Given the description of an element on the screen output the (x, y) to click on. 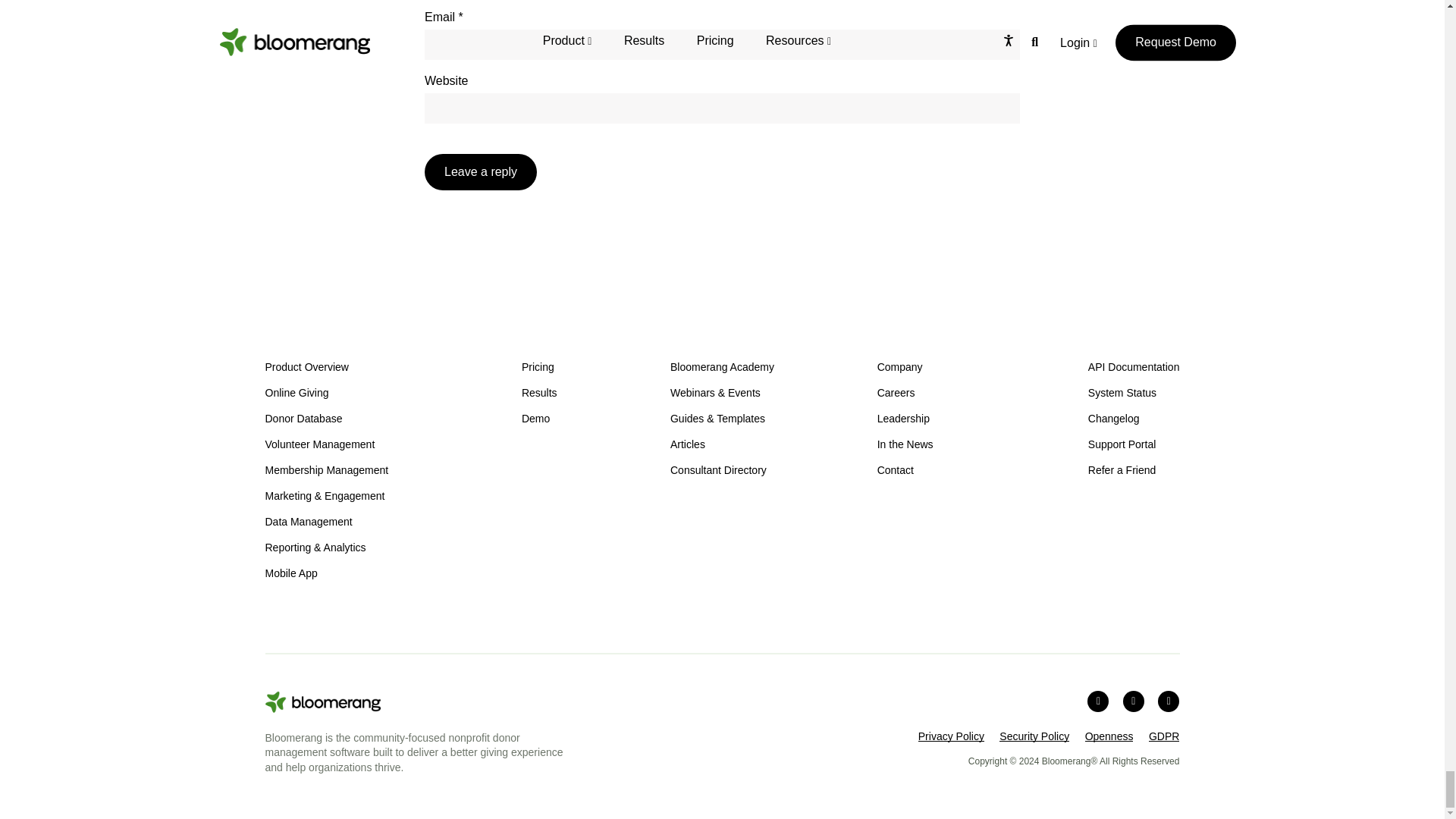
Leave a reply (481, 171)
